Given the description of an element on the screen output the (x, y) to click on. 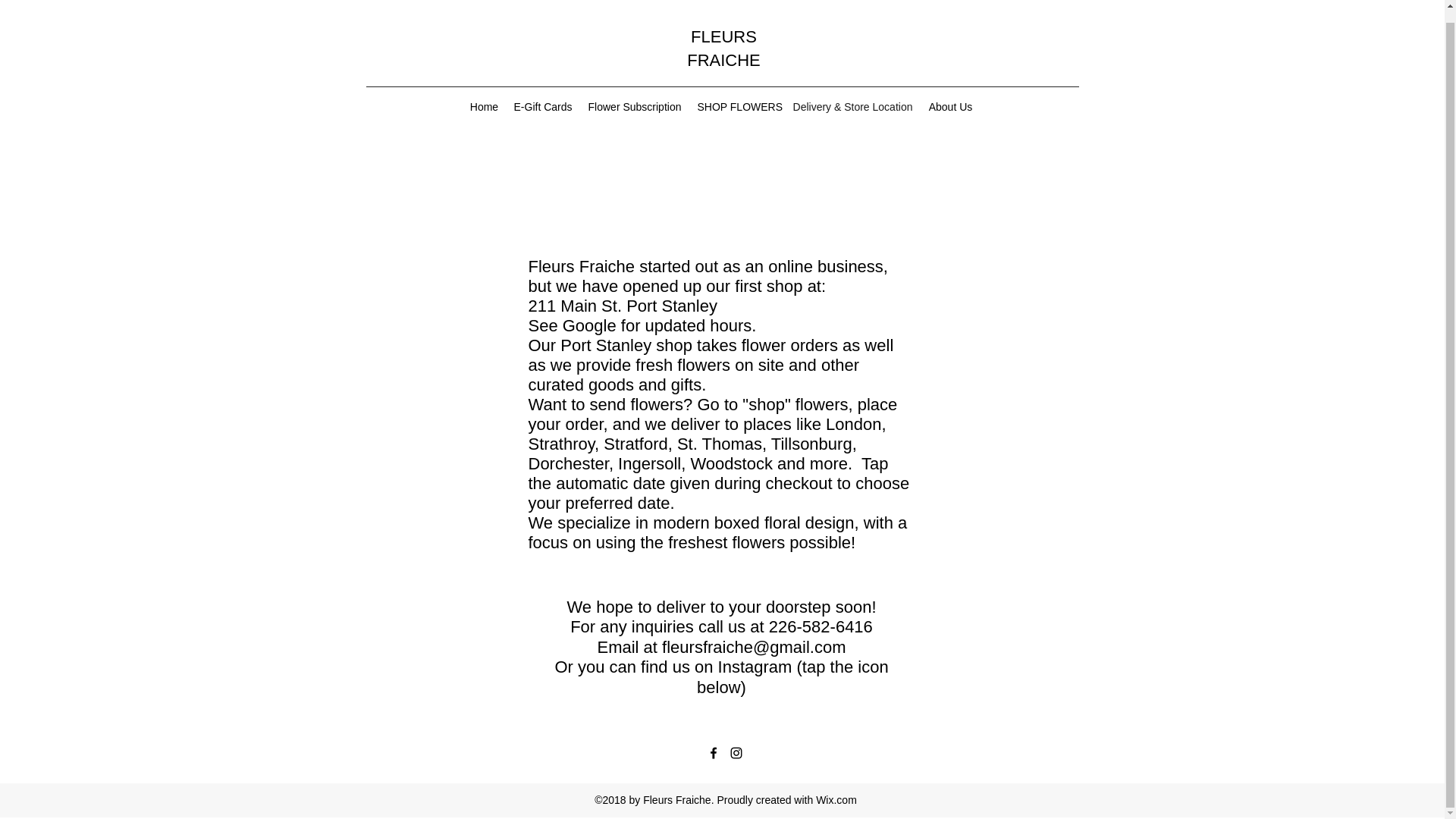
SHOP FLOWERS (738, 106)
FLEURS FRAICHE (723, 48)
Flower Subscription (633, 106)
Home (484, 106)
About Us (950, 106)
E-Gift Cards (542, 106)
